Given the description of an element on the screen output the (x, y) to click on. 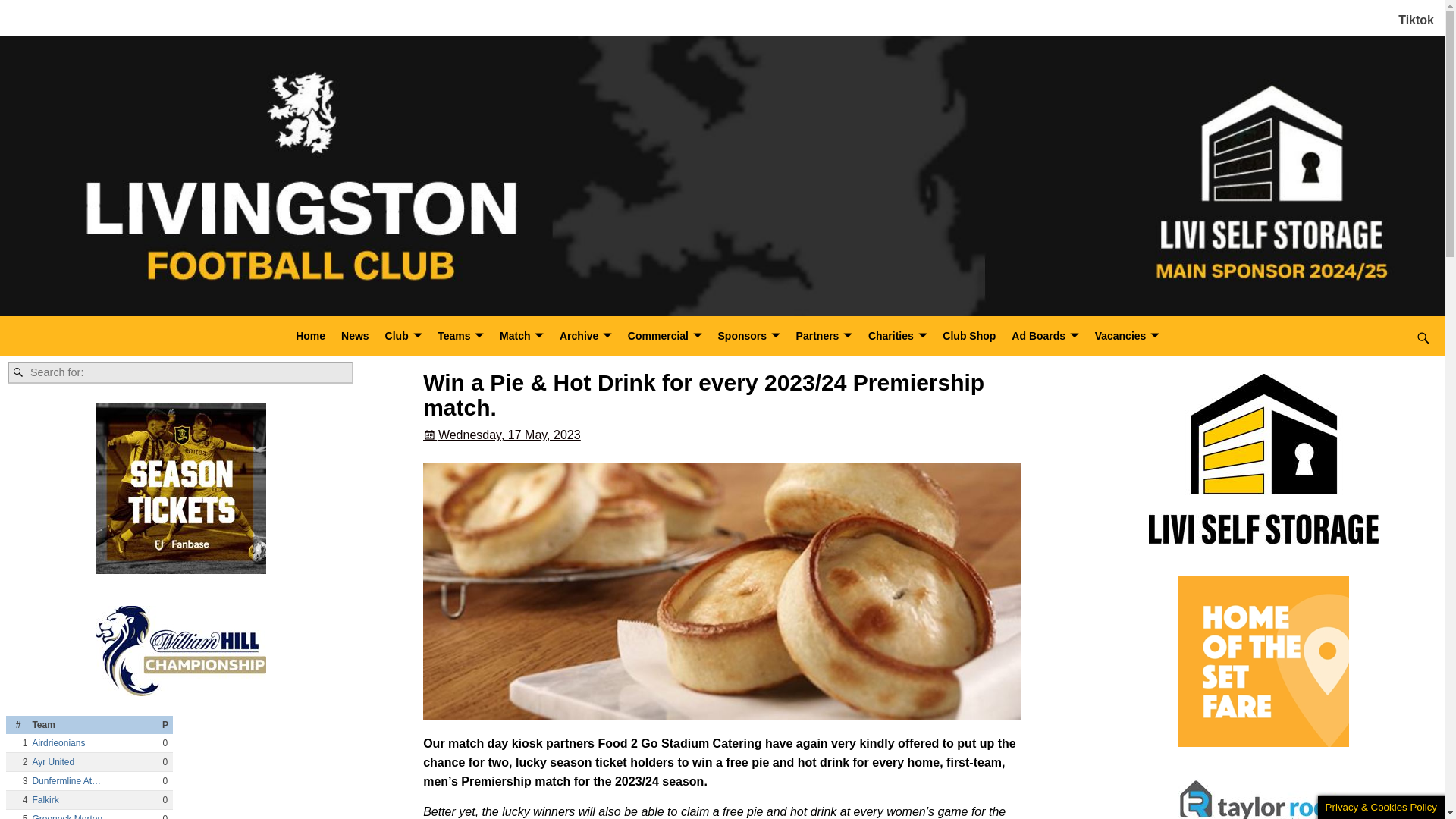
4:00 pm (501, 434)
News (355, 336)
Home (310, 336)
Team (93, 724)
Rank (17, 724)
Home (310, 336)
Club (403, 336)
Tiktok (1415, 19)
